Given the description of an element on the screen output the (x, y) to click on. 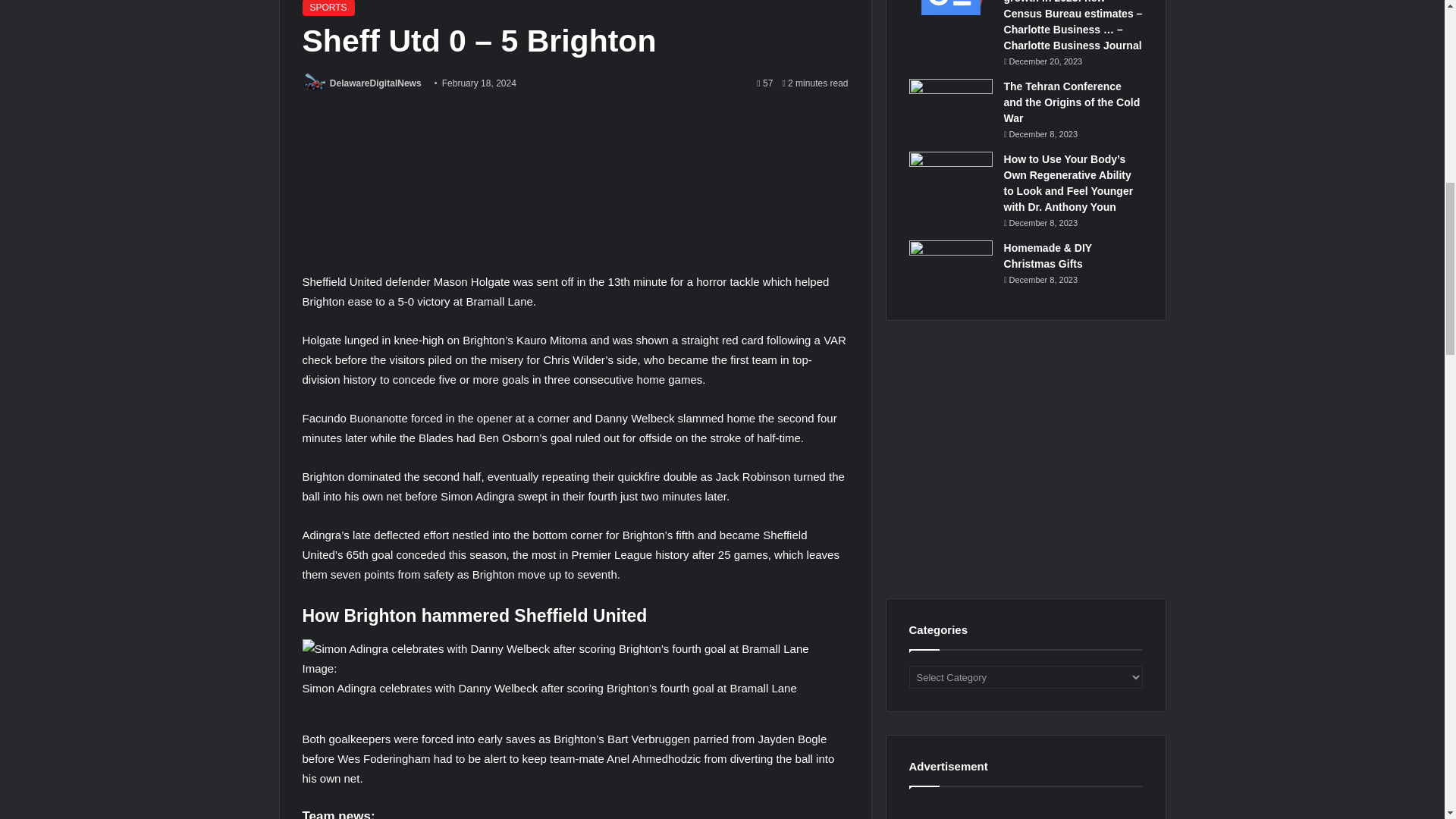
DelawareDigitalNews (376, 82)
